Given the description of an element on the screen output the (x, y) to click on. 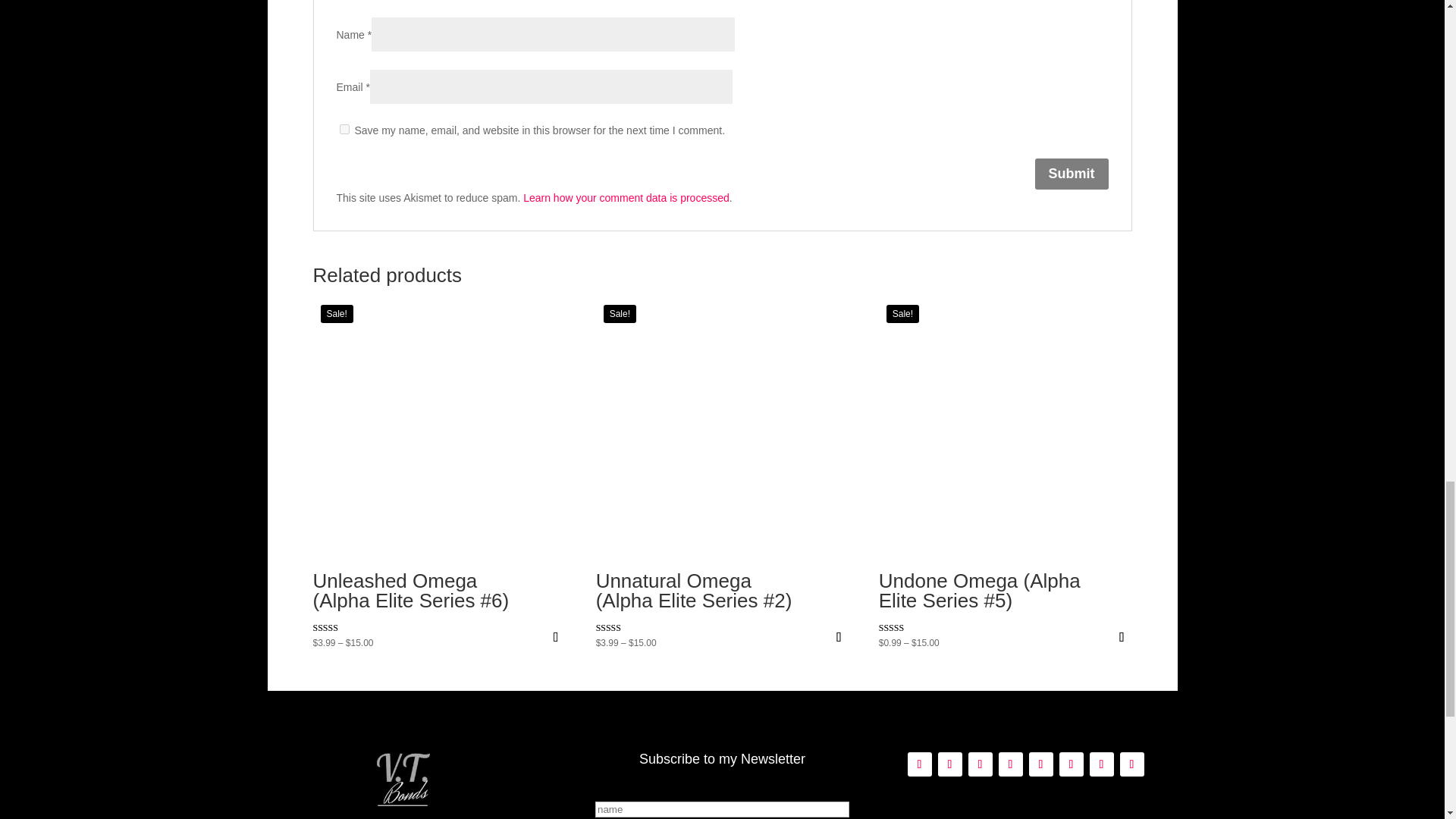
Follow on Amazon (919, 764)
Submit (1070, 173)
yes (344, 129)
vtbonds (401, 776)
